Given the description of an element on the screen output the (x, y) to click on. 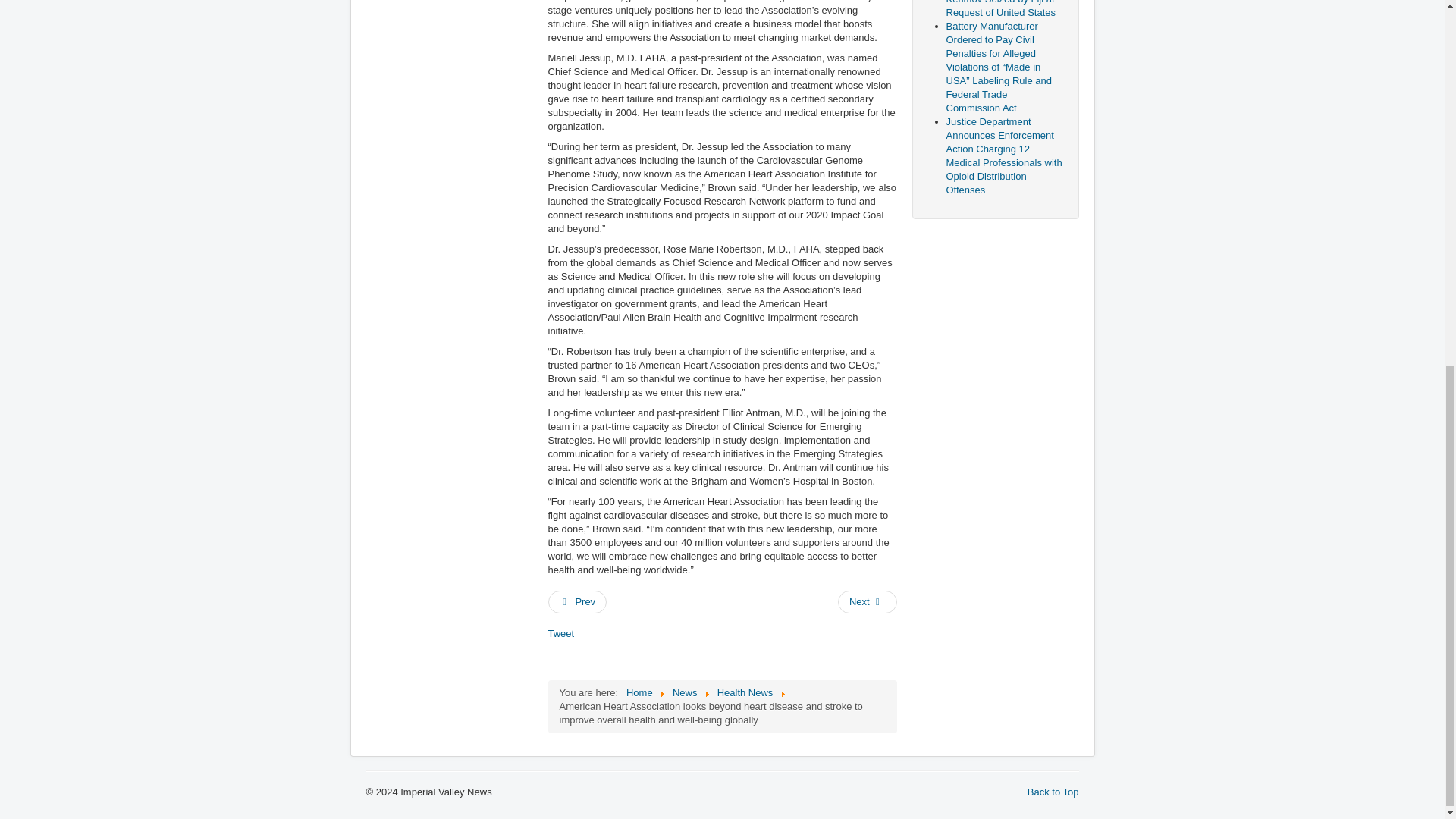
Prev (577, 601)
News (684, 692)
Home (639, 692)
Back to Top (1052, 791)
Tweet (560, 633)
Health News (745, 692)
Next (867, 601)
